Given the description of an element on the screen output the (x, y) to click on. 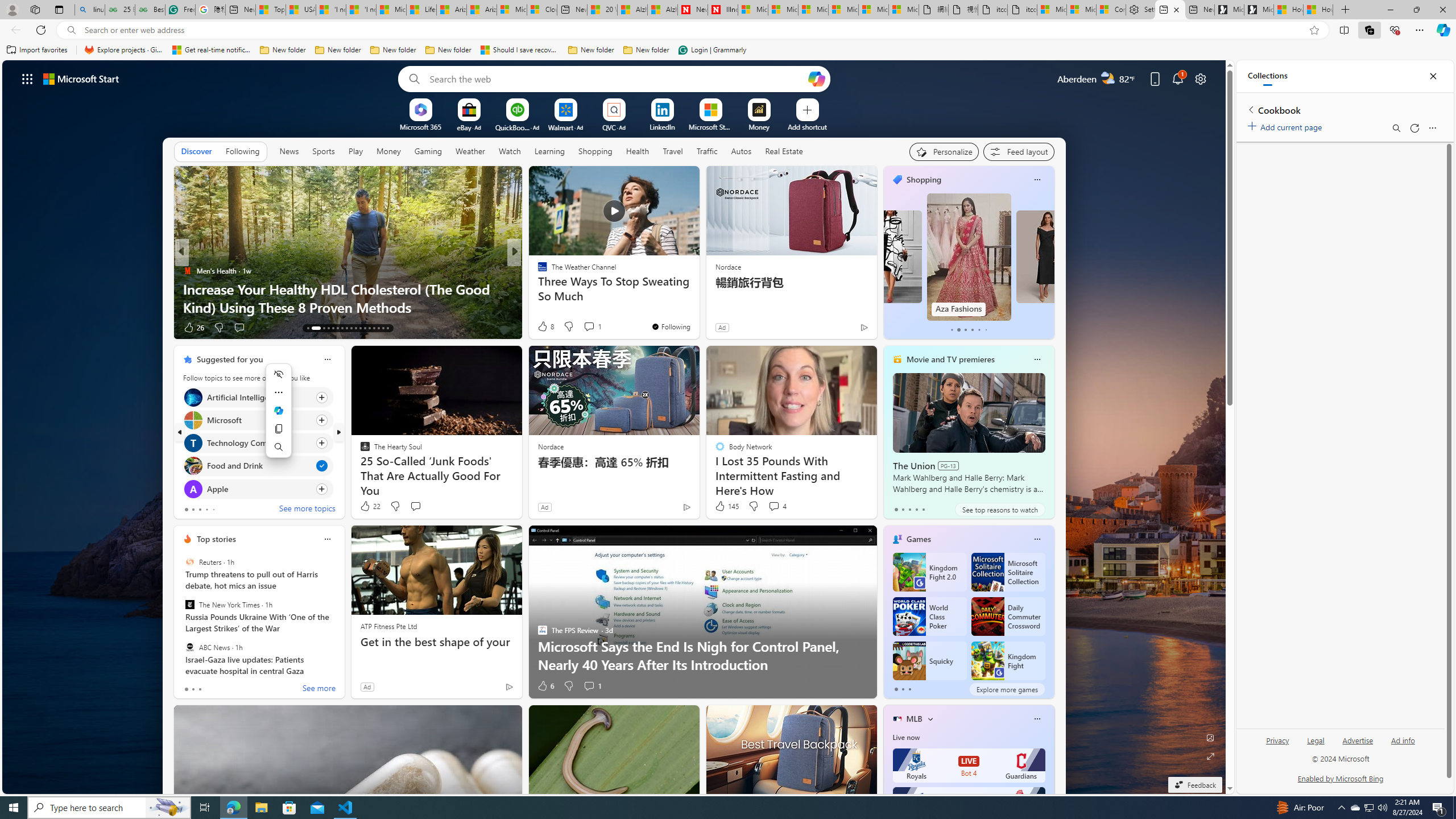
Explore more games (1006, 689)
Learning (549, 151)
View comments 319 Comment (595, 327)
Lifestyle - MSN (421, 9)
HuffPost (537, 270)
Free AI Writing Assistance for Students | Grammarly (180, 9)
Enter your search term (617, 78)
View comments 319 Comment (588, 327)
Play (354, 151)
